Given the description of an element on the screen output the (x, y) to click on. 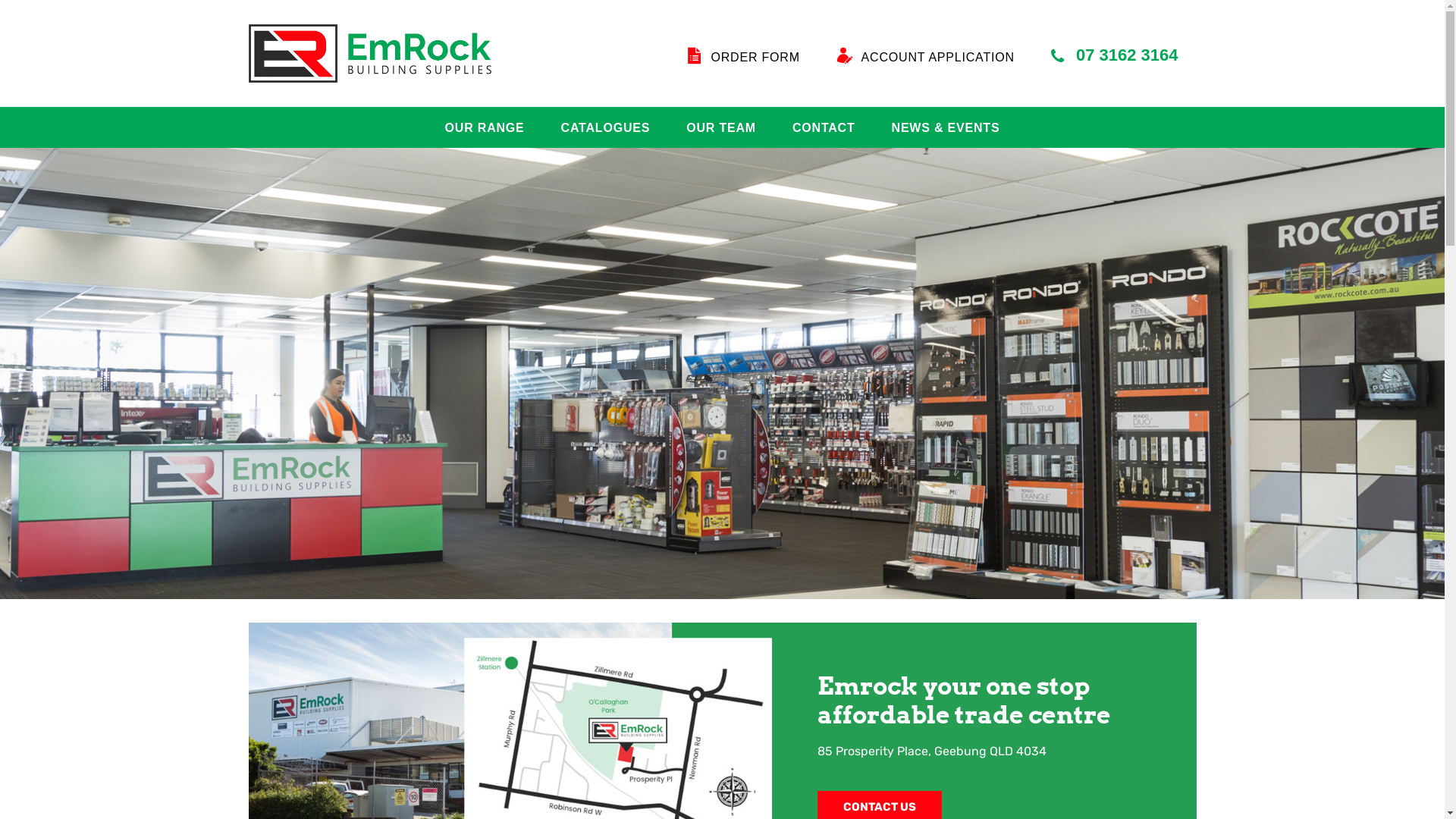
ACCOUNT APPLICATION Element type: text (925, 54)
CATALOGUES Element type: text (605, 127)
OUR RANGE Element type: text (493, 127)
07 3162 3164 Element type: text (1114, 55)
NEWS & EVENTS Element type: text (936, 127)
OUR TEAM Element type: text (721, 127)
ORDER FORM Element type: text (743, 54)
CONTACT Element type: text (823, 127)
